Given the description of an element on the screen output the (x, y) to click on. 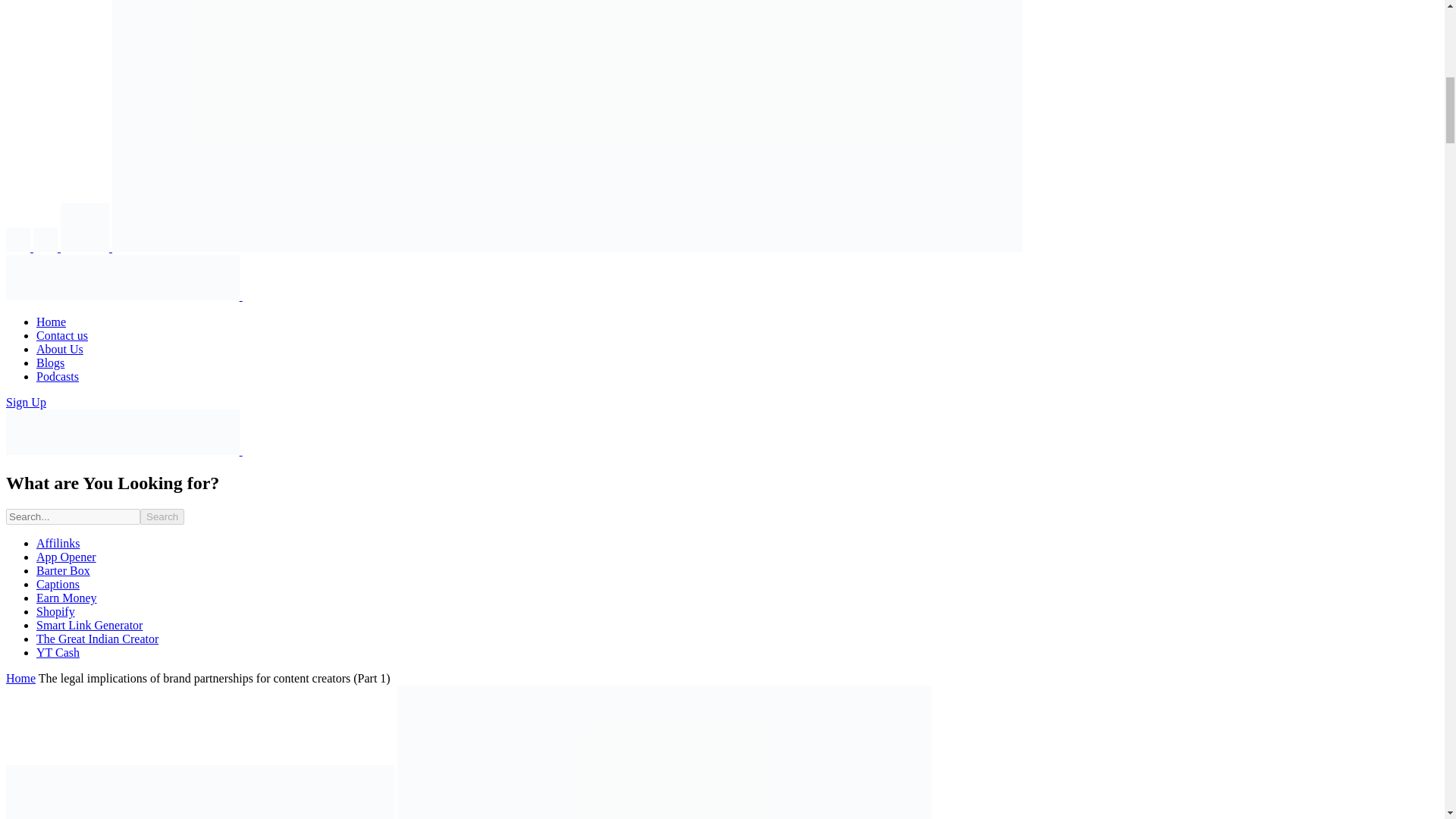
Podcasts (57, 376)
Earn Money (66, 597)
Affilinks (58, 543)
Search (161, 516)
Contact us (61, 335)
About Us (59, 349)
Shopify (55, 611)
Blogs (50, 362)
Smart Link Generator (89, 625)
Home (19, 677)
Captions (58, 584)
Sign Up (25, 401)
Home (50, 321)
YT Cash (58, 652)
App Opener (66, 556)
